Given the description of an element on the screen output the (x, y) to click on. 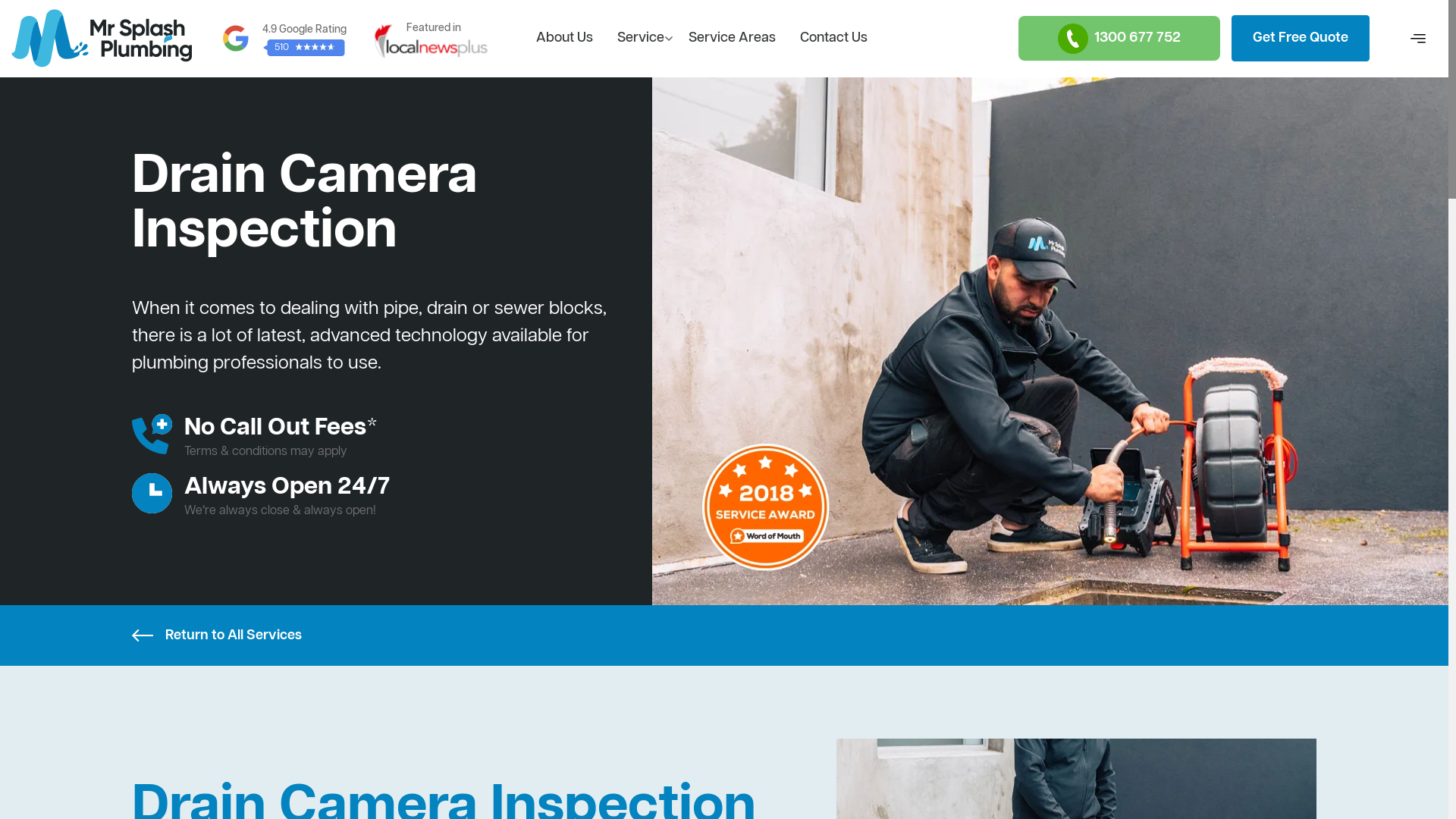
Service Areas Element type: text (731, 38)
1300 677 752 Element type: text (1118, 37)
Mr Splash Plumbing Element type: hover (101, 38)
Get Free Quote Element type: text (1300, 38)
Contact Us Element type: text (833, 38)
Service Element type: text (640, 38)
Return to All Services Element type: text (723, 635)
About Us Element type: text (564, 38)
sewer blocks Element type: text (548, 309)
